Given the description of an element on the screen output the (x, y) to click on. 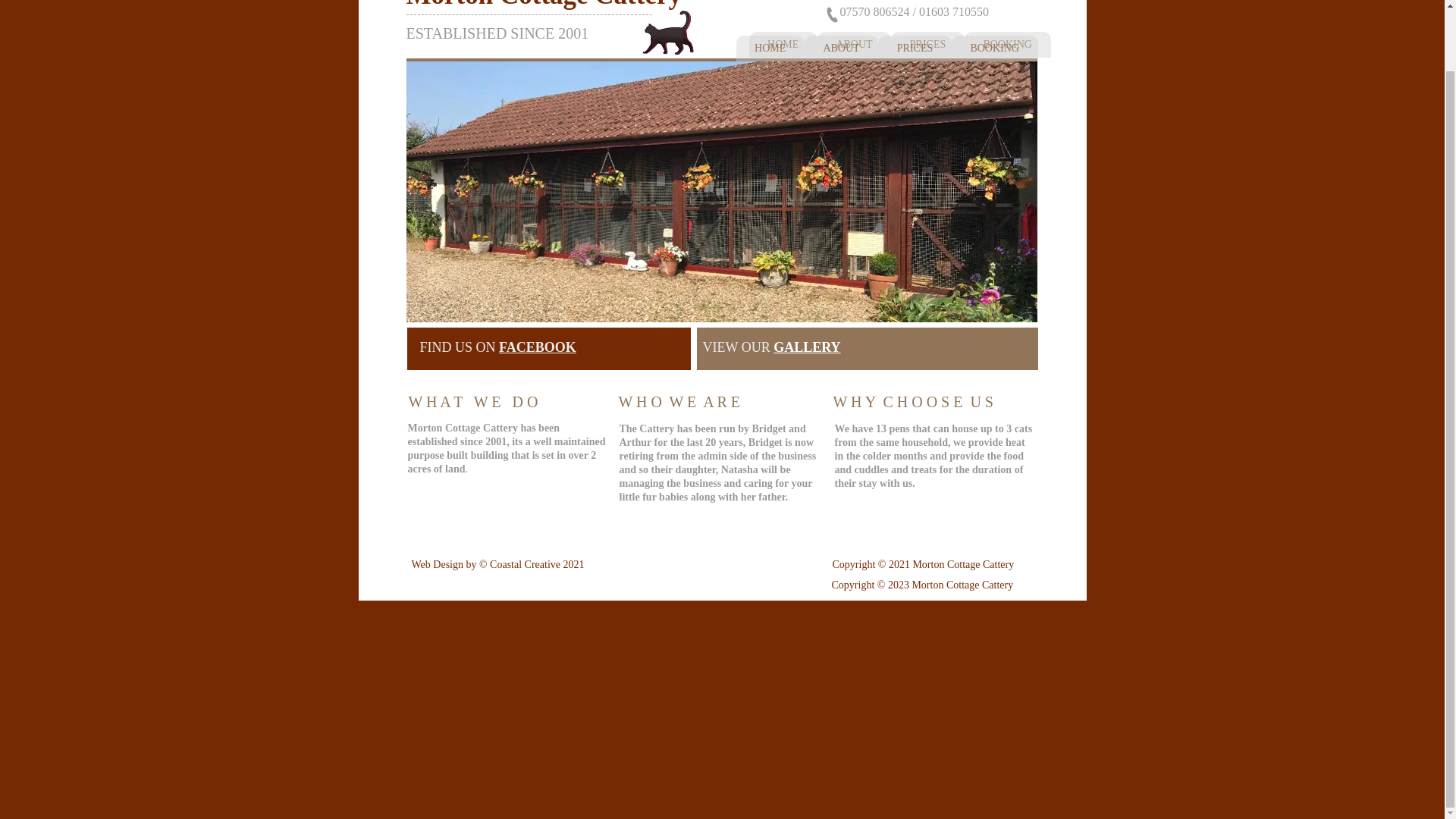
ABOUT (841, 48)
HOME (782, 44)
PRICES (914, 48)
GALLERY (806, 346)
BOOKING (1007, 44)
BOOKING (995, 48)
PRICES (927, 44)
HOME (769, 48)
FACEBOOK (537, 346)
